Given the description of an element on the screen output the (x, y) to click on. 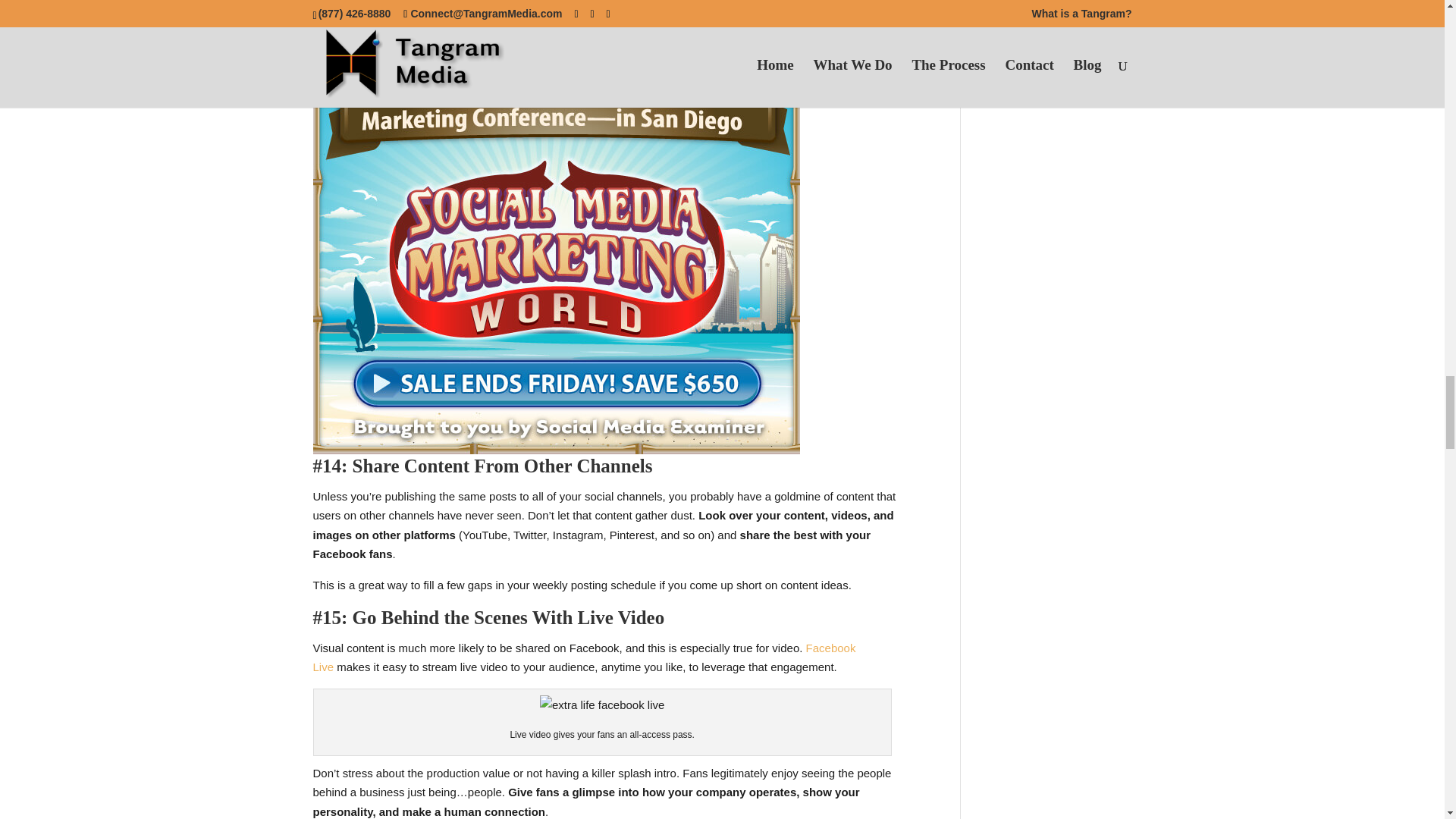
Facebook Live (584, 657)
